Given the description of an element on the screen output the (x, y) to click on. 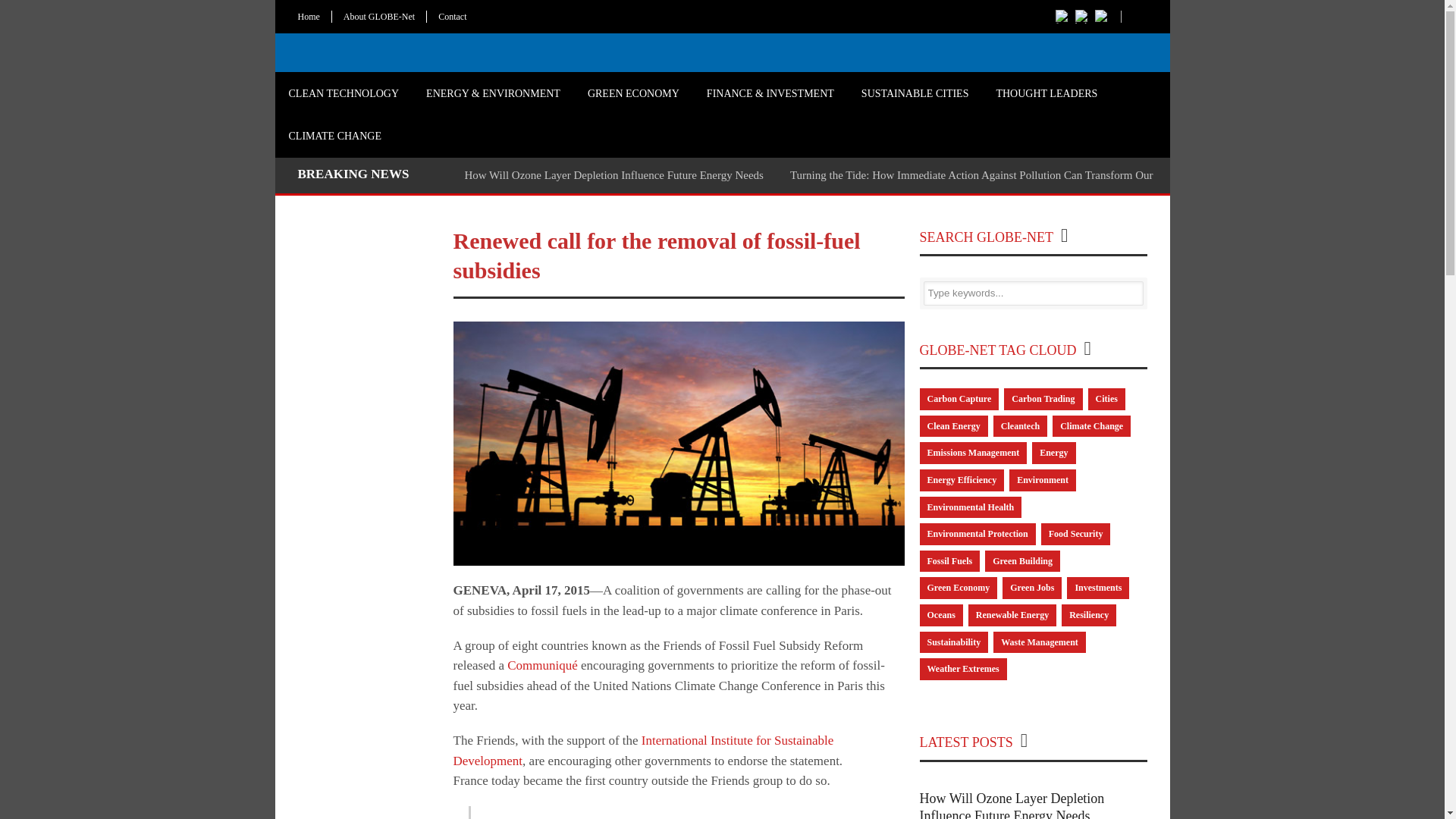
International Institute for Sustainable Development (643, 750)
GREEN ECONOMY (633, 93)
53 topics (961, 480)
146 topics (972, 453)
CLIMATE CHANGE (334, 136)
Renewed call for the removal of fossil-fuel subsidies (656, 255)
53 topics (1053, 453)
How Will Ozone Layer Depletion Influence Future Energy Needs (613, 174)
154 topics (970, 507)
